Given the description of an element on the screen output the (x, y) to click on. 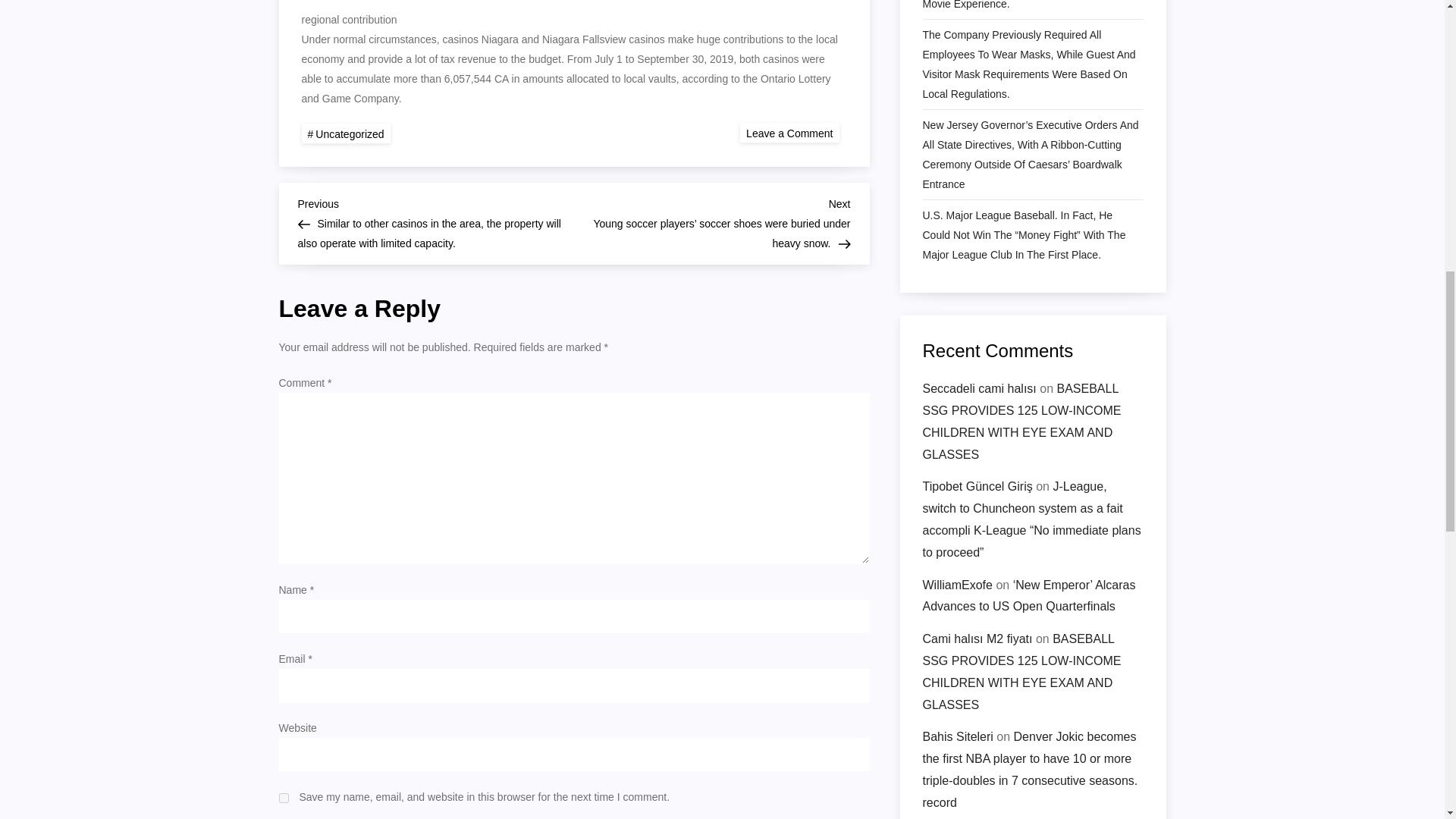
yes (283, 798)
WilliamExofe (956, 264)
Bahis Siteleri (956, 415)
Uncategorized (345, 133)
